Given the description of an element on the screen output the (x, y) to click on. 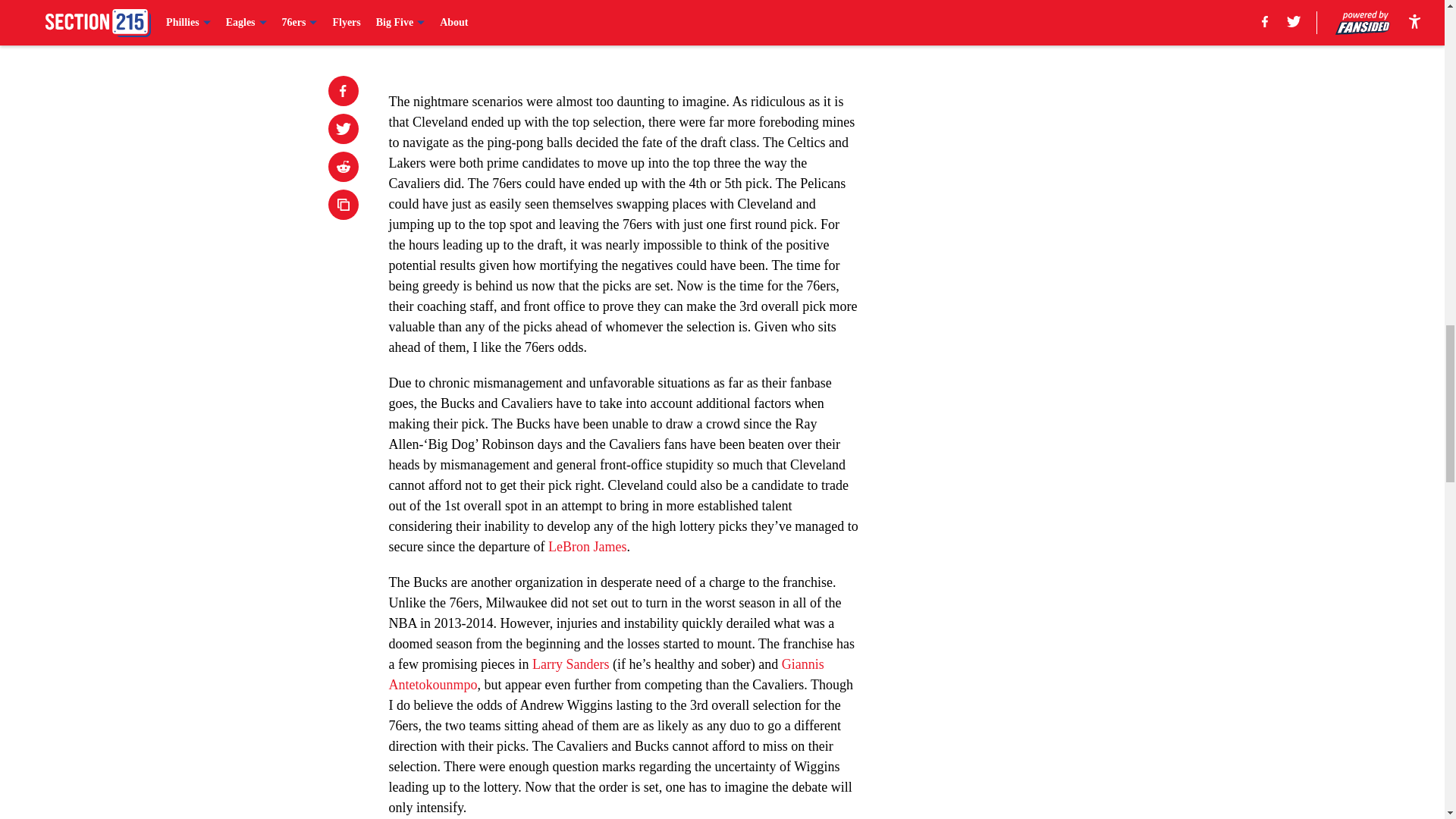
Larry Sanders (569, 663)
LeBron James (587, 546)
Giannis Antetokounmpo (606, 674)
